Given the description of an element on the screen output the (x, y) to click on. 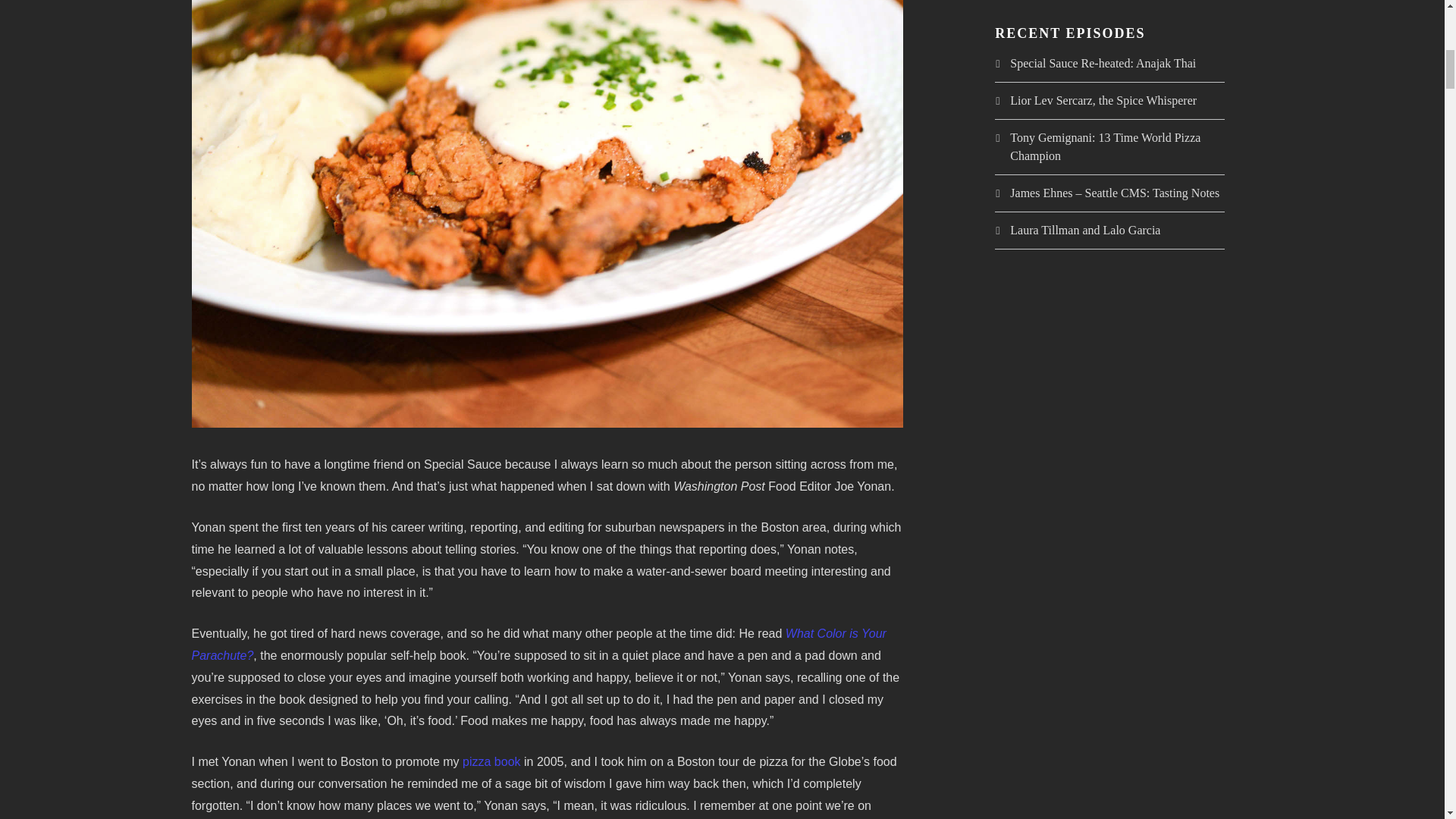
Laura Tillman and Lalo Garcia (1085, 229)
Special Sauce Re-heated: Anajak Thai (1102, 62)
What Color is Your Parachute? (537, 644)
pizza book (492, 761)
Tony Gemignani: 13 Time World Pizza Champion (1104, 146)
Lior Lev Sercarz, the Spice Whisperer (1103, 100)
